Given the description of an element on the screen output the (x, y) to click on. 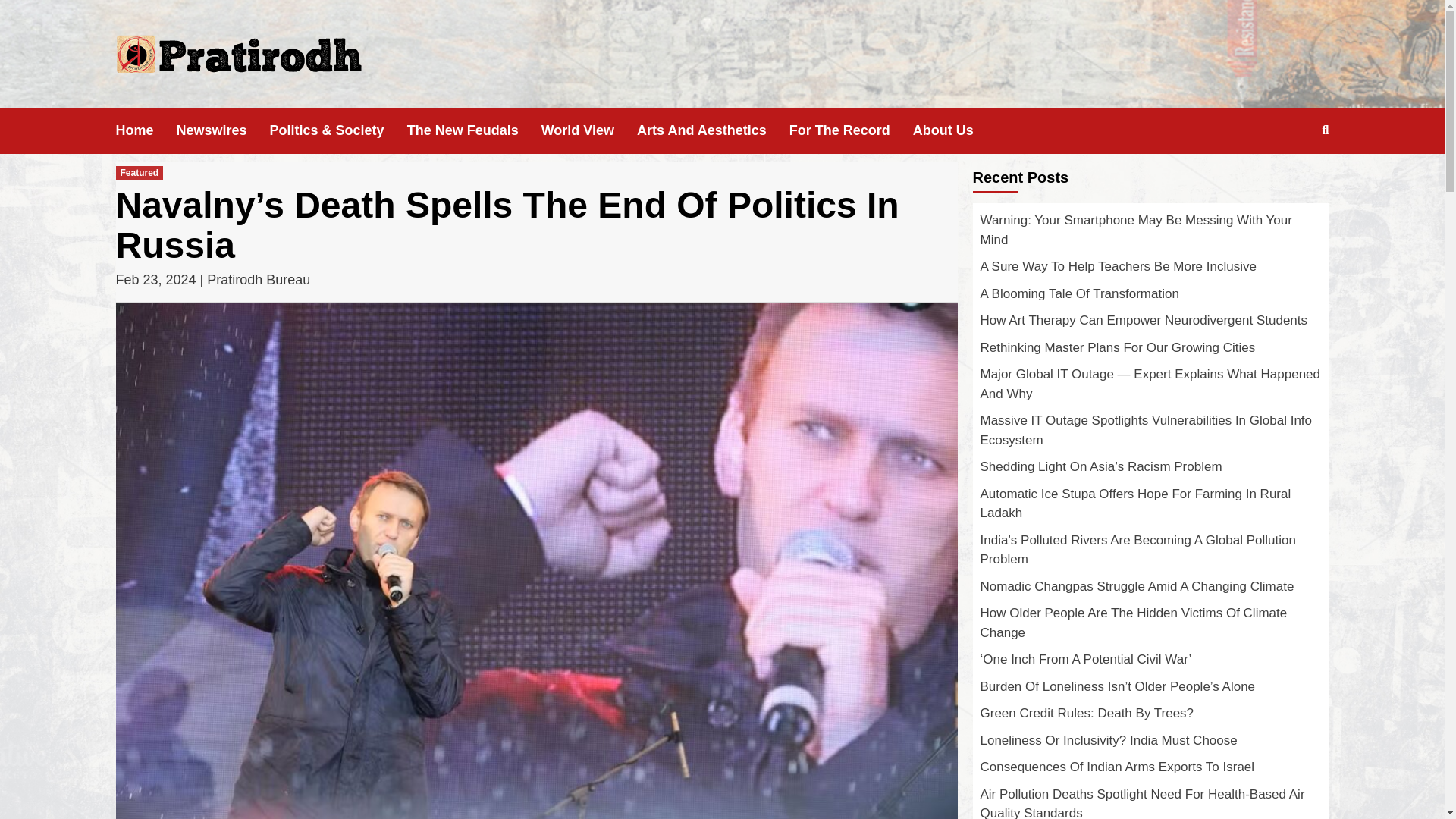
World View (589, 130)
Home (145, 130)
The New Feudals (474, 130)
About Us (953, 130)
Newswires (222, 130)
Featured (139, 172)
Arts And Aesthetics (713, 130)
For The Record (850, 130)
